Given the description of an element on the screen output the (x, y) to click on. 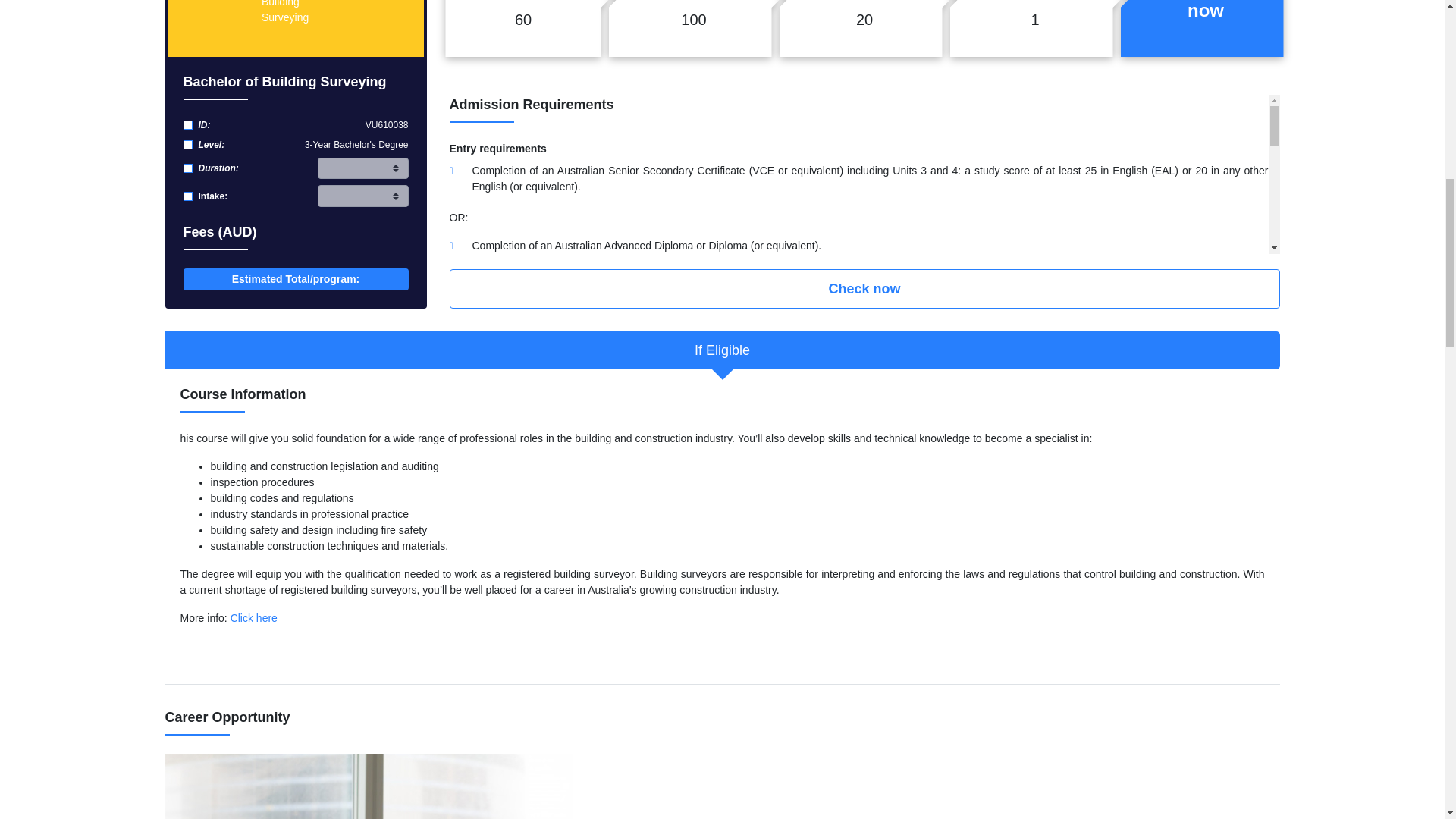
Click here (254, 617)
If Eligible (721, 350)
Check now (863, 288)
